Given the description of an element on the screen output the (x, y) to click on. 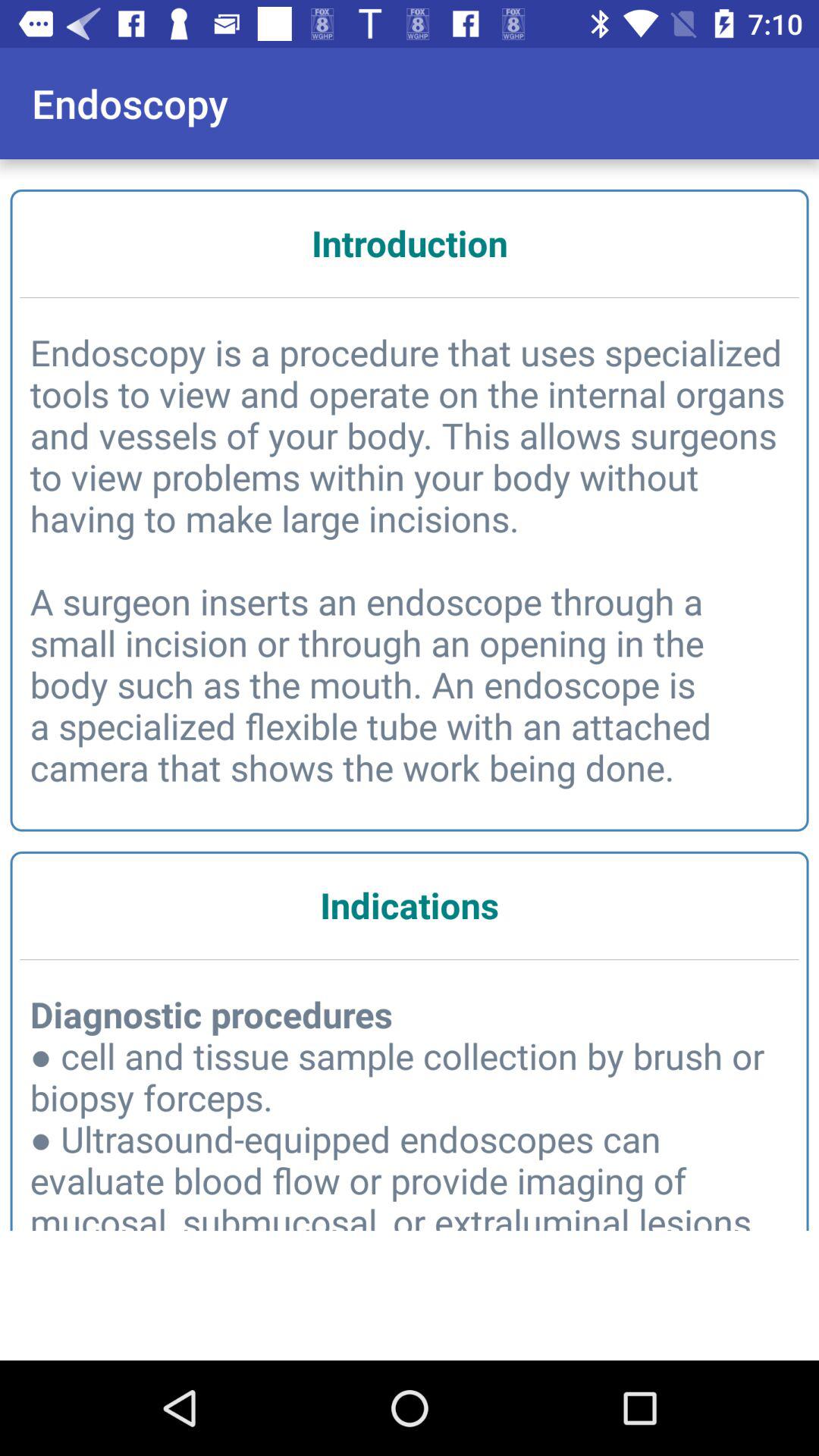
turn off introduction icon (409, 242)
